Given the description of an element on the screen output the (x, y) to click on. 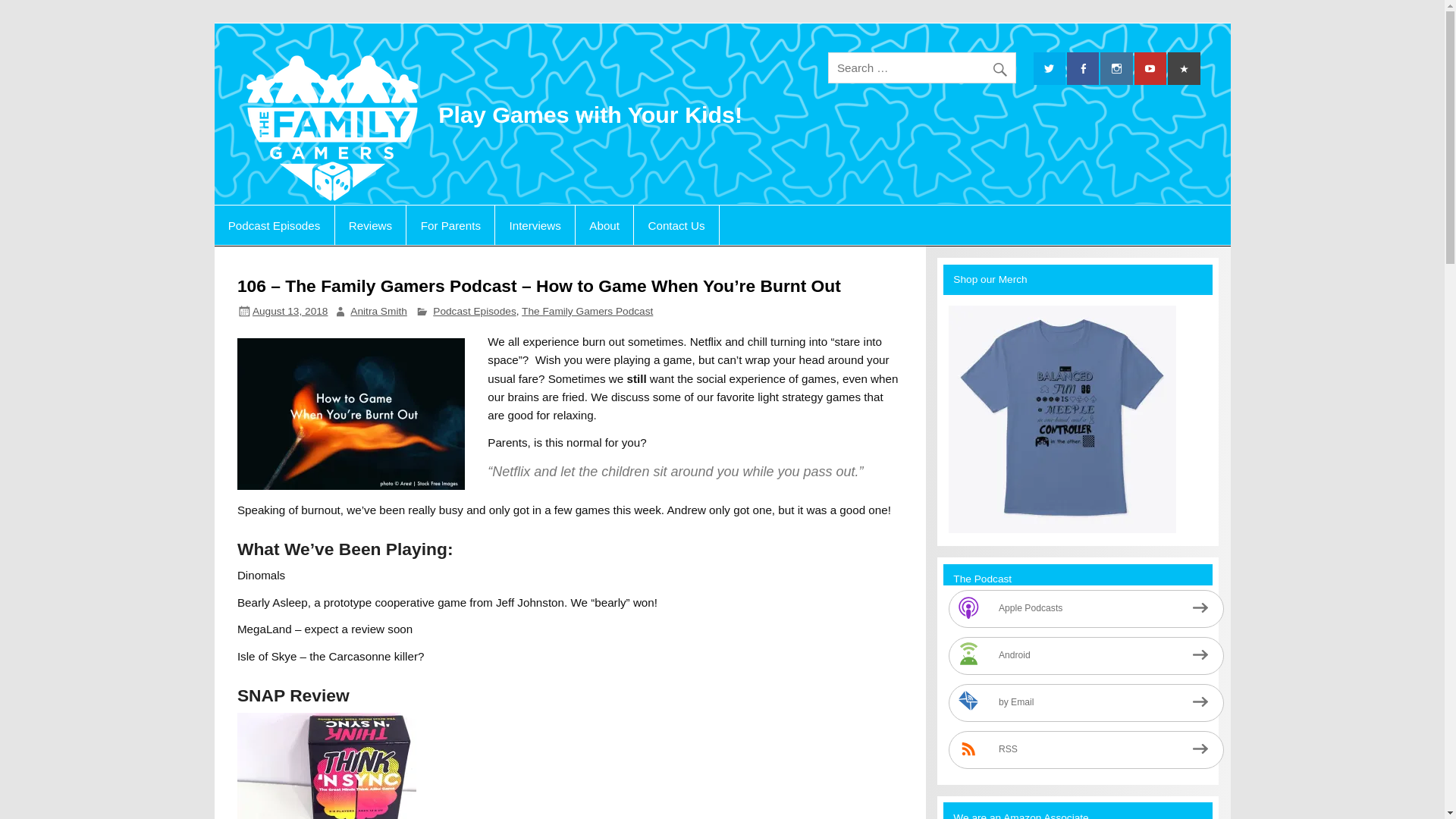
Reviews (370, 224)
About (604, 224)
View all posts by Anitra Smith (378, 310)
Anitra Smith (378, 310)
Contact Us (676, 224)
Podcast Episodes (473, 310)
Interviews (535, 224)
For Parents (450, 224)
August 13, 2018 (290, 310)
Podcast Episodes (273, 224)
11:16 pm (290, 310)
The Family Gamers Podcast (586, 310)
The Family Gamers (571, 66)
